Given the description of an element on the screen output the (x, y) to click on. 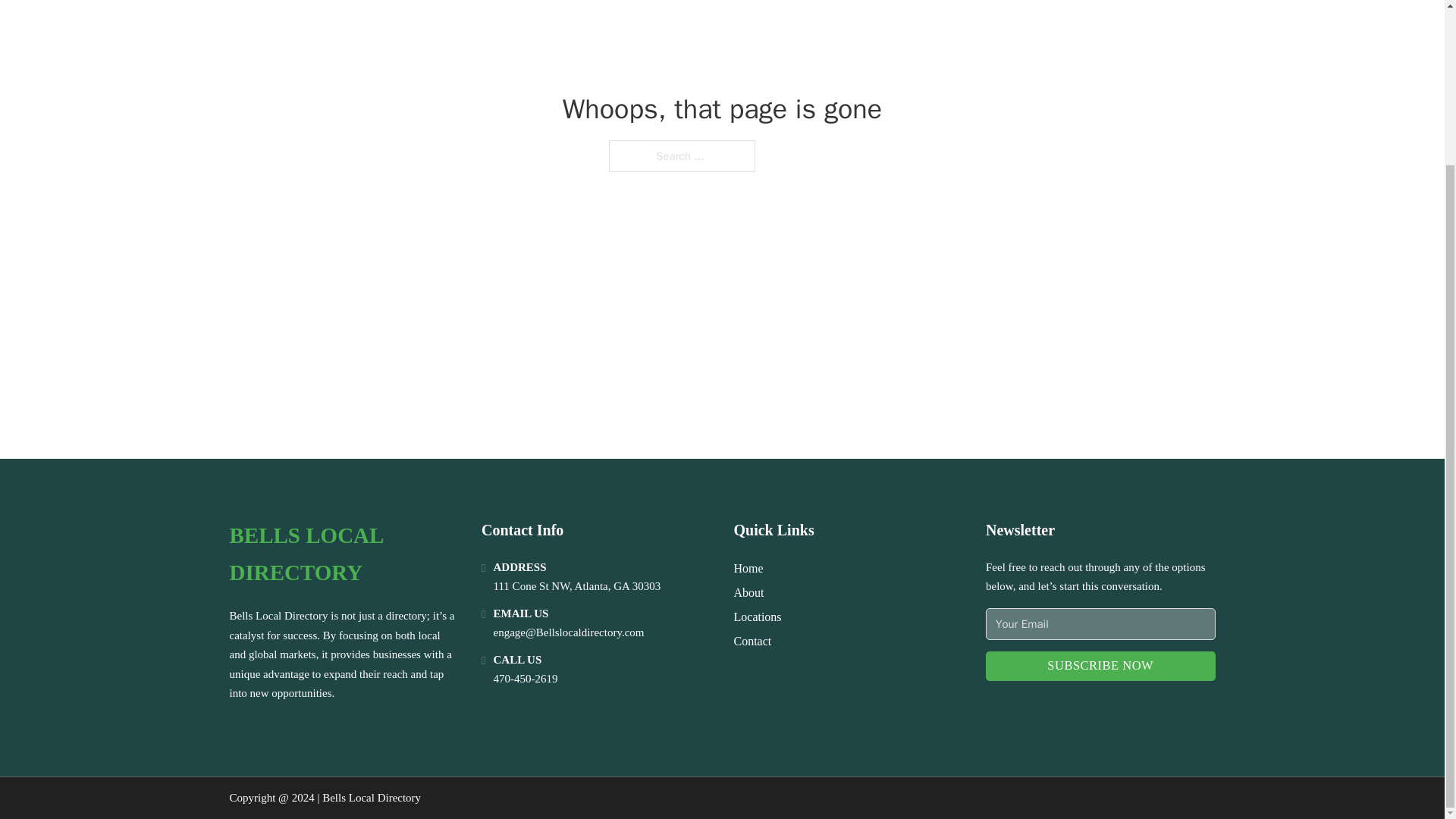
SUBSCRIBE NOW (1100, 665)
Locations (757, 616)
Contact (752, 640)
Home (747, 567)
BELLS LOCAL DIRECTORY (343, 554)
470-450-2619 (525, 678)
About (748, 592)
